Given the description of an element on the screen output the (x, y) to click on. 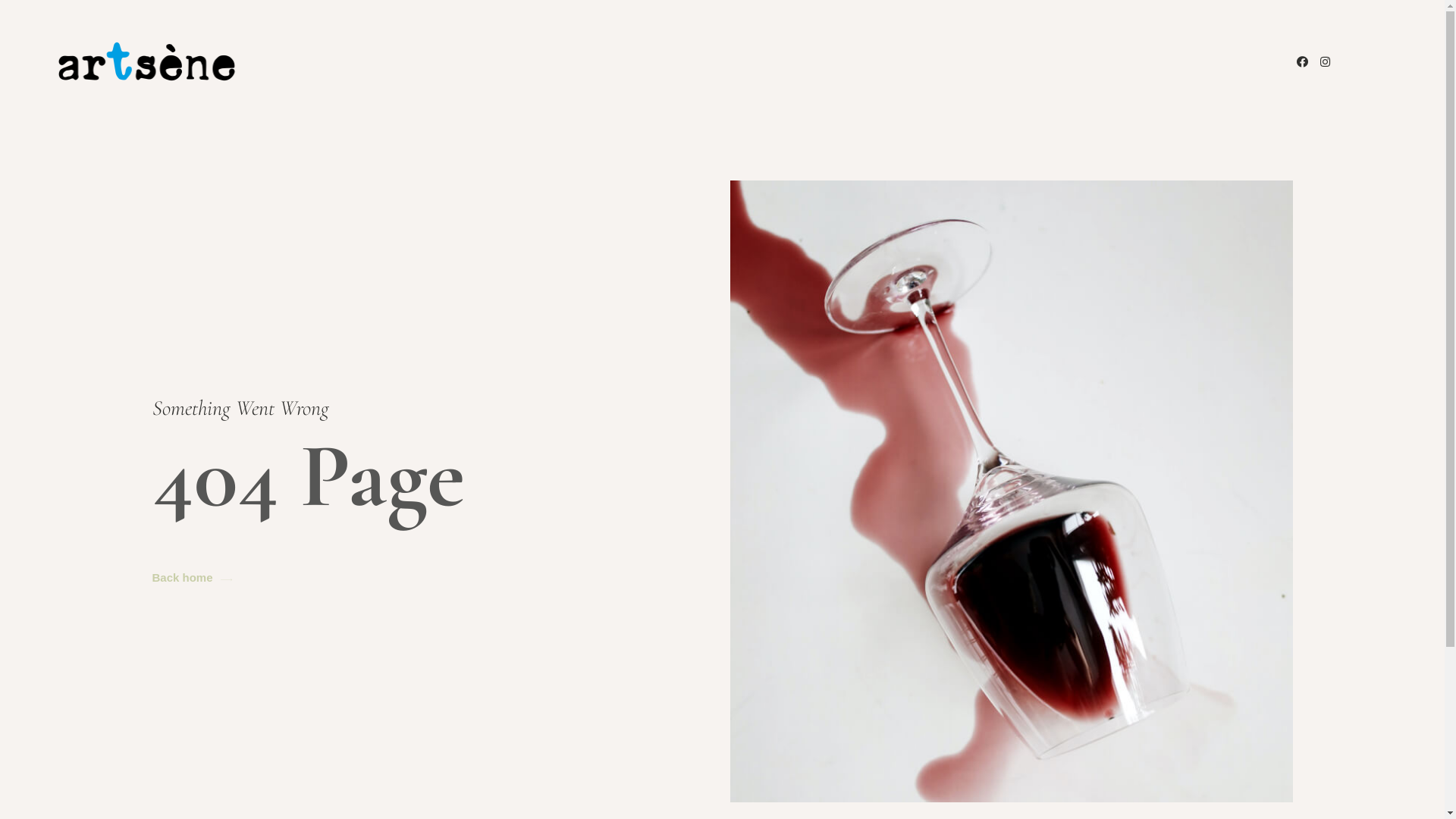
Back home Element type: text (191, 577)
